Given the description of an element on the screen output the (x, y) to click on. 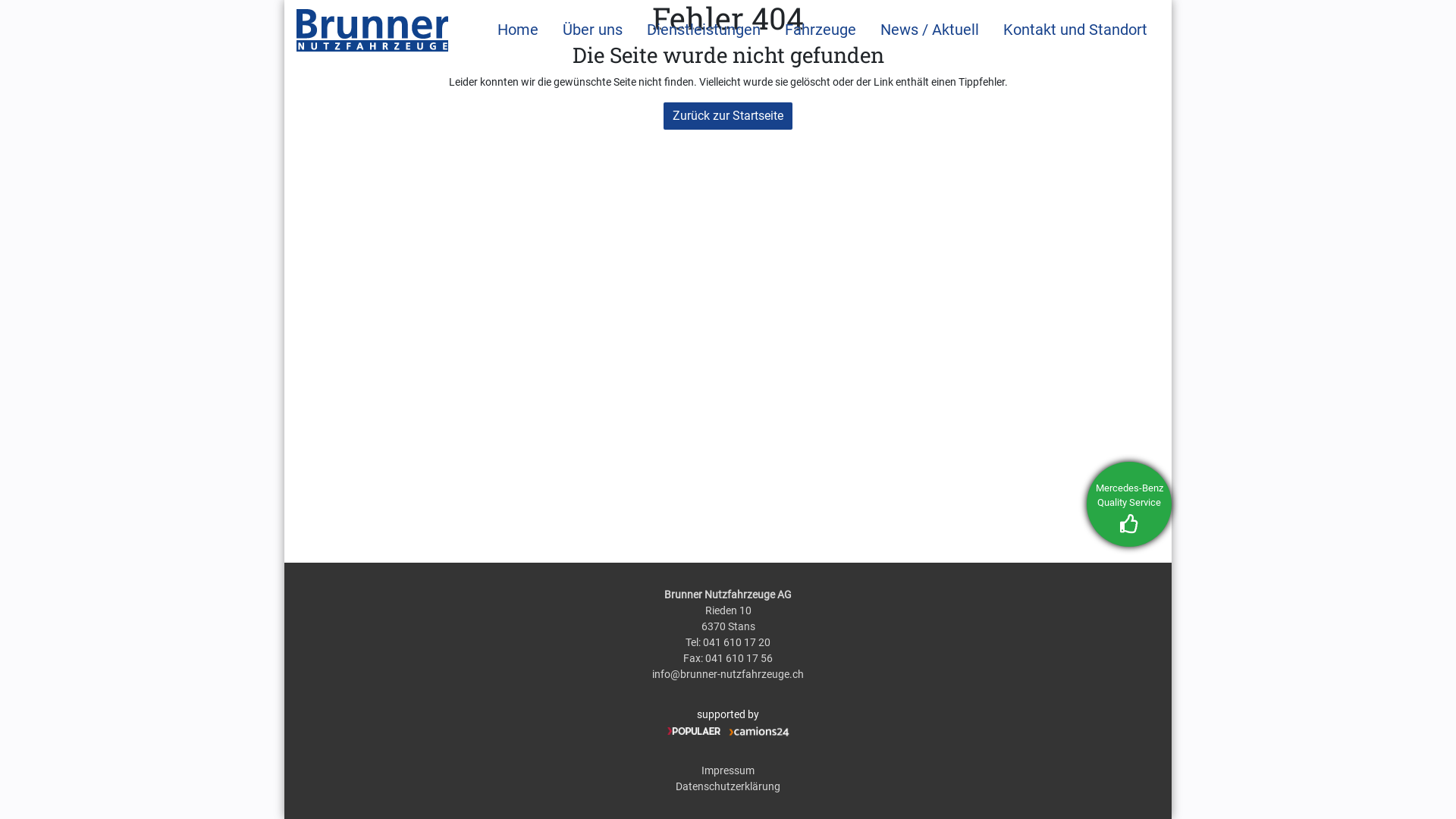
Die Internetagentur aus Winterthur Element type: hover (693, 730)
Fahrzeuge Element type: text (820, 29)
info@brunner-nutzfahrzeuge.ch Element type: text (727, 674)
News / Aktuell Element type: text (929, 29)
Impressum Element type: text (727, 770)
Kontakt und Standort Element type: text (1075, 29)
Dienstleistungen Element type: text (703, 29)
041 610 17 20 Element type: text (736, 642)
Home Element type: text (517, 29)
041 610 17 56 Element type: text (738, 658)
Mercedes-Benz Quality Service Element type: text (1128, 503)
